Given the description of an element on the screen output the (x, y) to click on. 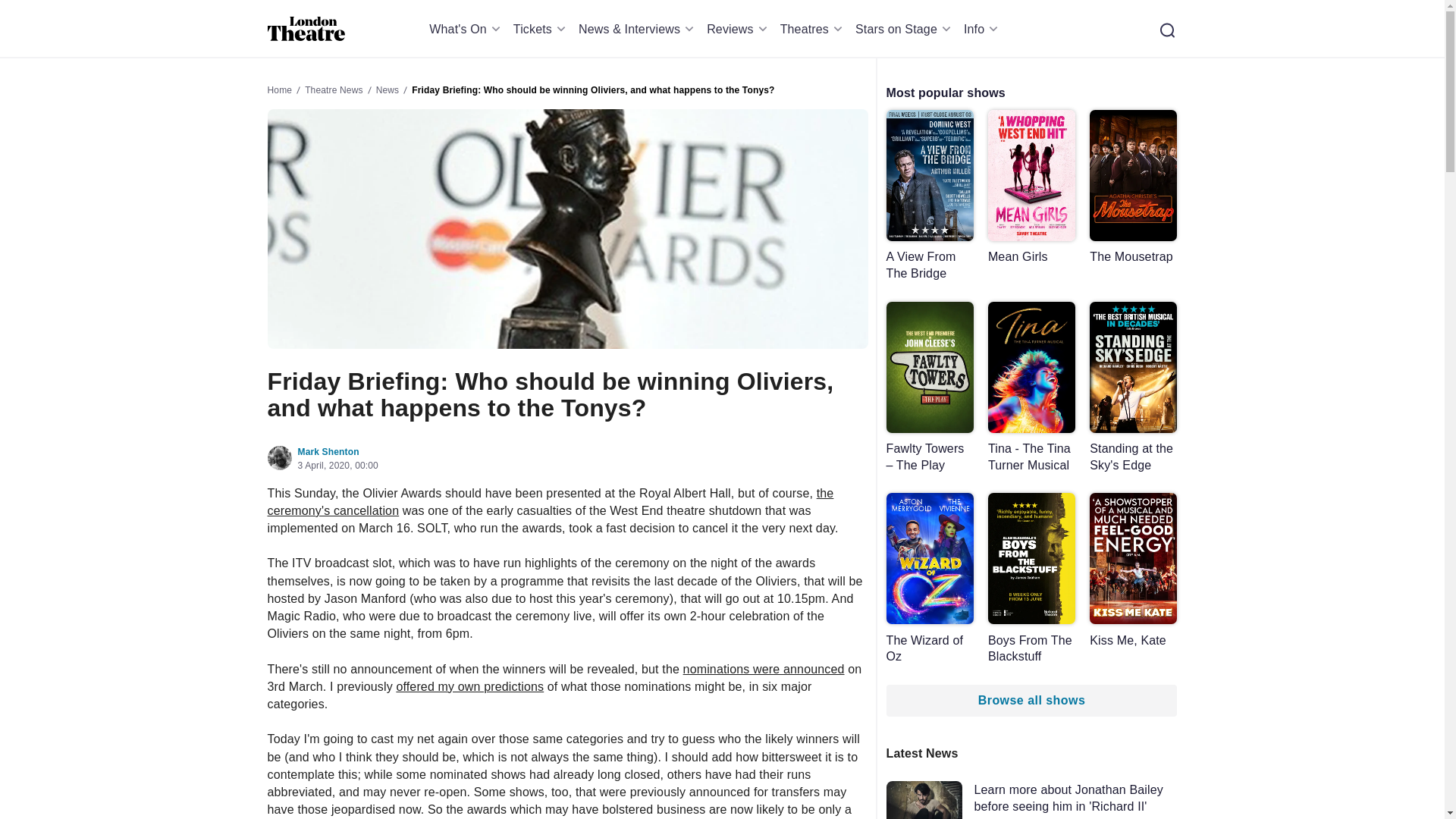
Tickets (541, 28)
Home (305, 28)
What's On (467, 28)
Reviews (739, 28)
